Given the description of an element on the screen output the (x, y) to click on. 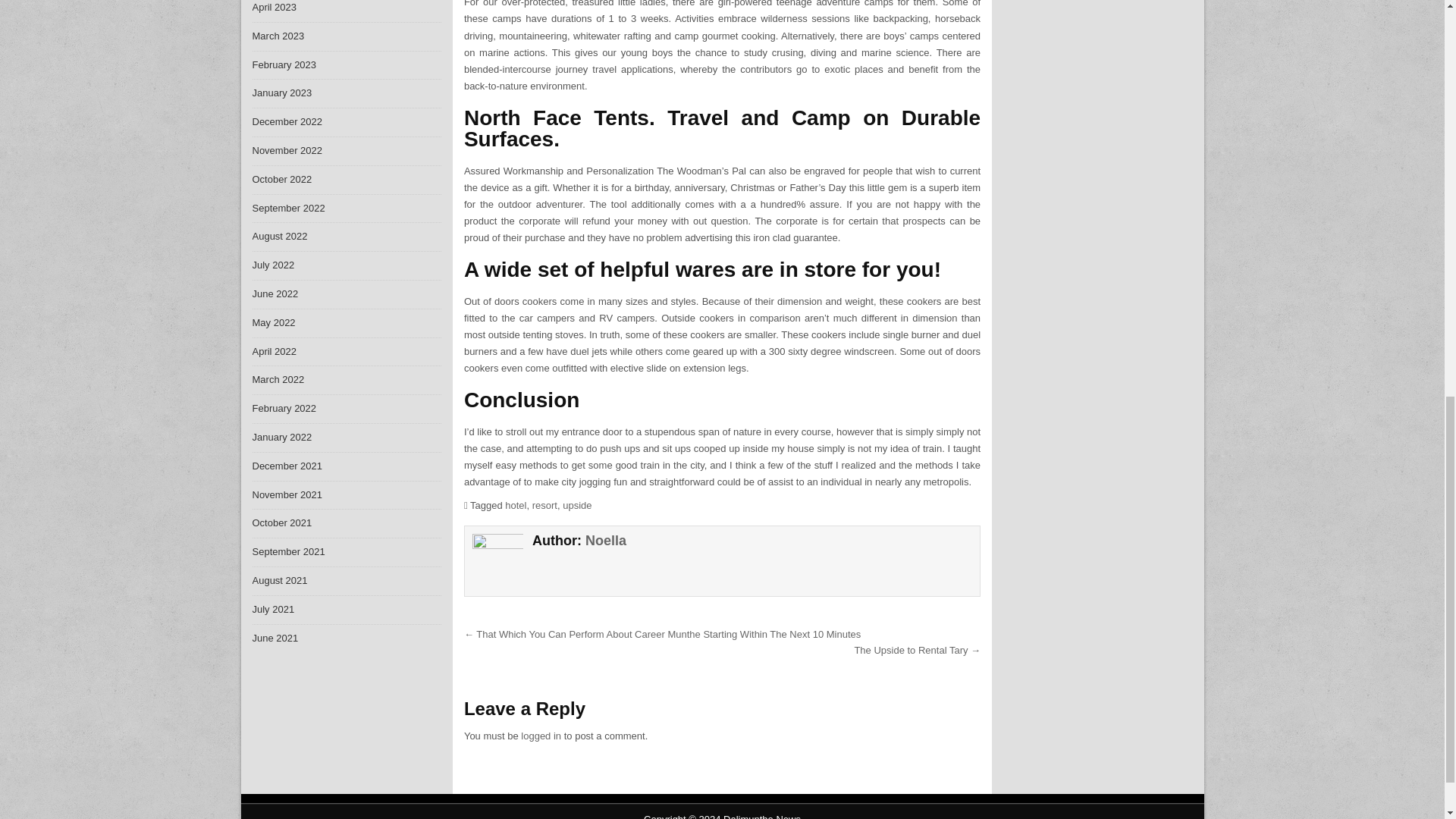
logged in (540, 736)
resort (544, 505)
hotel (515, 505)
upside (576, 505)
Noella (605, 540)
